Given the description of an element on the screen output the (x, y) to click on. 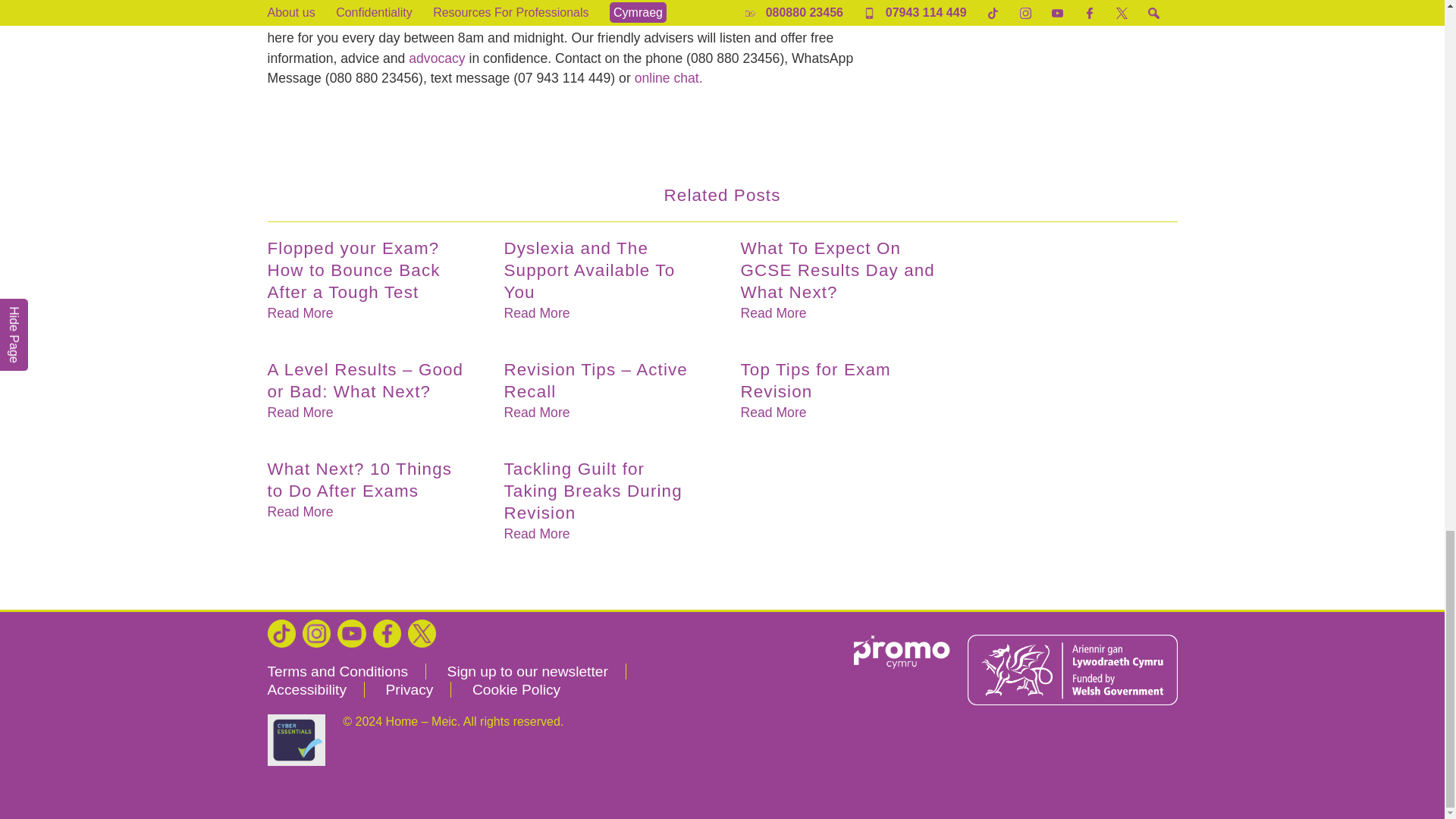
What To Expect On GCSE Results Day and What Next? (839, 270)
Flopped your Exam? How to Bounce Back After a Tough Test (366, 270)
Top Tips for Exam Revision (839, 380)
Dyslexia and The Support Available To You (603, 270)
